Given the description of an element on the screen output the (x, y) to click on. 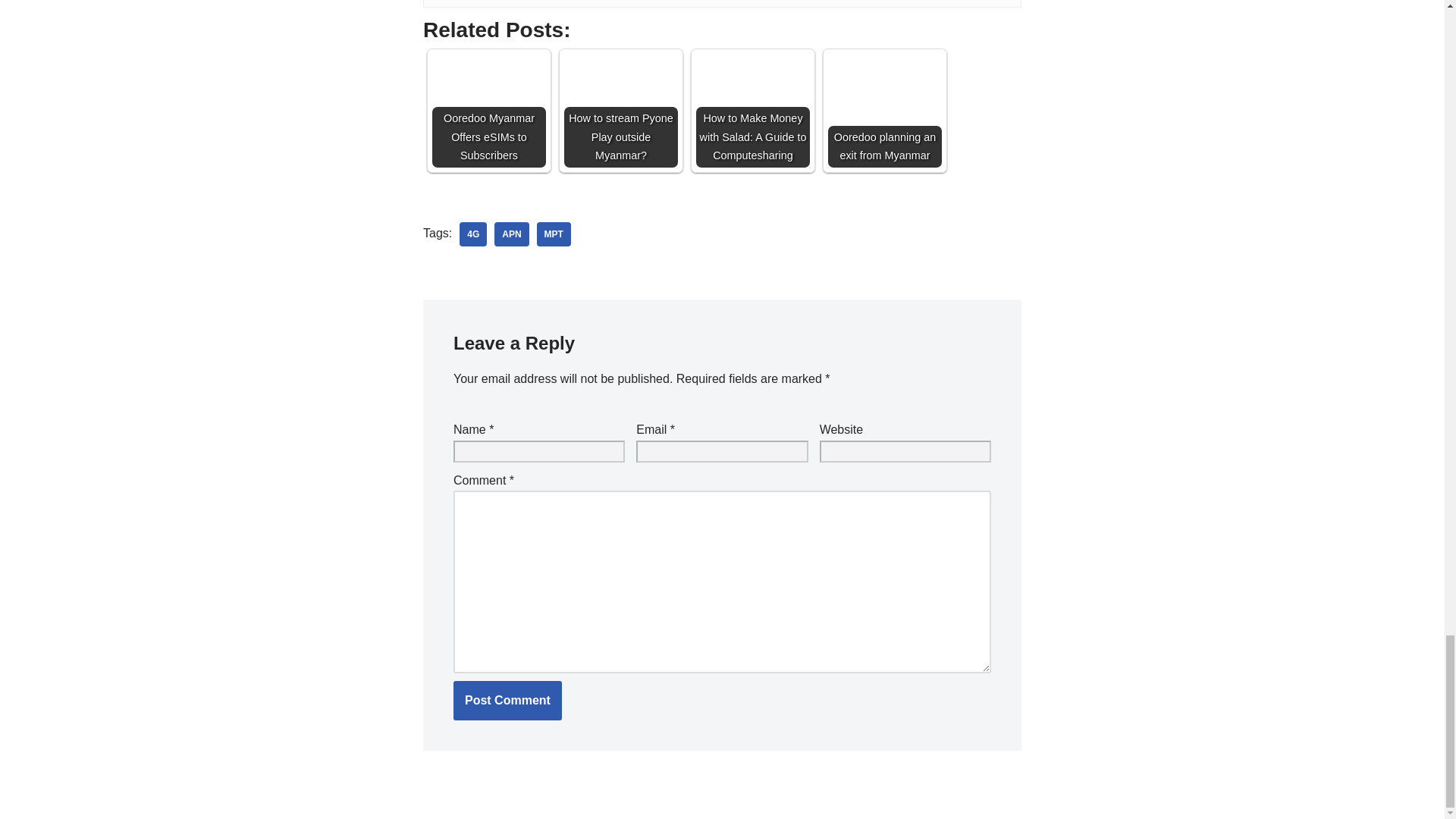
Ooredoo Myanmar Offers eSIMs to Subscribers (489, 110)
Ooredoo Myanmar Offers eSIMs to Subscribers (489, 110)
4g (473, 233)
Post Comment (507, 700)
Ooredoo planning an exit from Myanmar (885, 110)
mpt (553, 233)
How to stream Pyone Play outside Myanmar? (621, 110)
apn (511, 233)
How to Make Money with Salad: A Guide to Computesharing (752, 110)
